Given the description of an element on the screen output the (x, y) to click on. 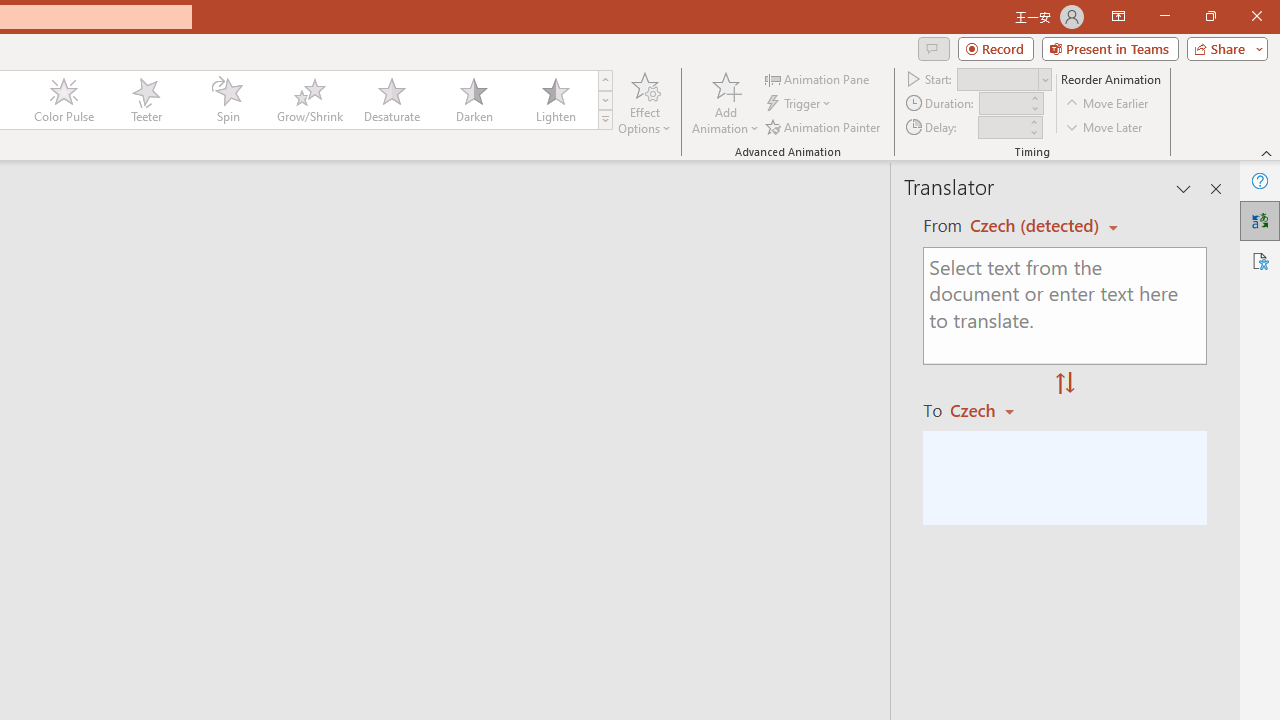
Move Earlier (1107, 103)
Czech (detected) (1037, 225)
Color Pulse (63, 100)
Teeter (145, 100)
Darken (473, 100)
Animation Styles (605, 120)
Animation Pane (818, 78)
Trigger (799, 103)
Spin (227, 100)
